Given the description of an element on the screen output the (x, y) to click on. 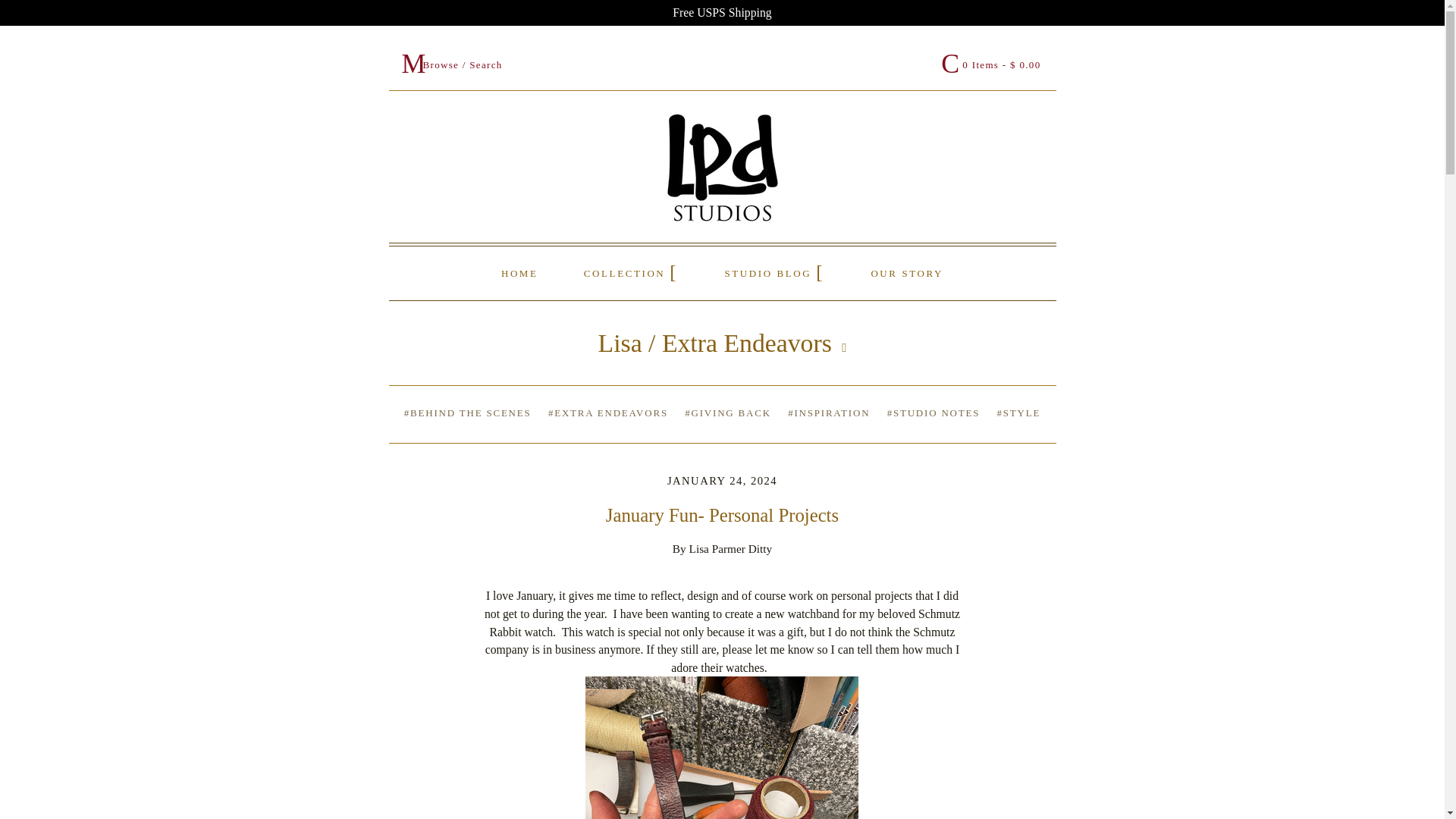
Show articles tagged Extra Endeavors (608, 412)
Show articles tagged Studio Notes (932, 412)
Show articles tagged Inspiration (828, 412)
Show articles tagged Behind the Scenes (467, 412)
Lisa (620, 343)
January Fun- Personal Projects (721, 515)
EXTRA ENDEAVORS (608, 412)
STUDIO NOTES (932, 412)
Show articles tagged Giving Back (727, 412)
GIVING BACK (727, 412)
